Given the description of an element on the screen output the (x, y) to click on. 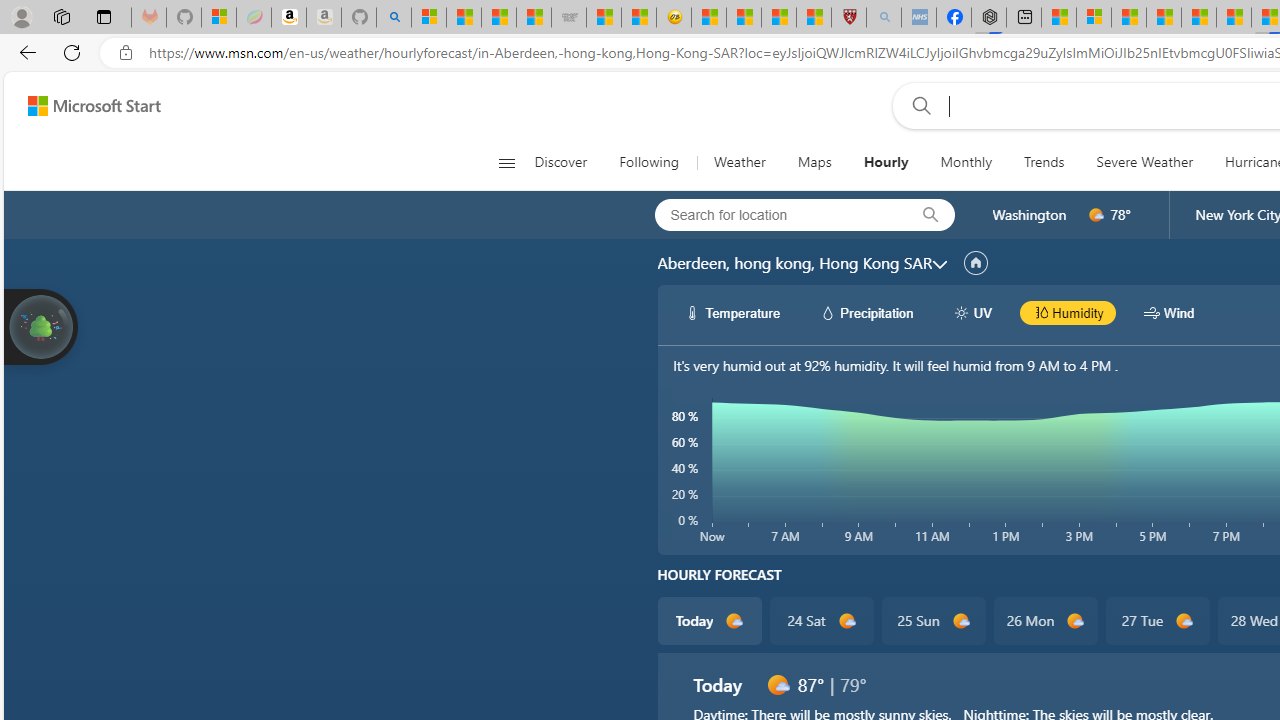
hourlyChart/temperatureWhite Temperature (733, 312)
hourlyChart/precipitationWhite (828, 312)
Trends (1044, 162)
hourlyChart/humidityBlack (1040, 312)
Join us in planting real trees to help our planet! (40, 325)
locationName/setHomeLocation (976, 263)
Today d1000 (708, 620)
